Given the description of an element on the screen output the (x, y) to click on. 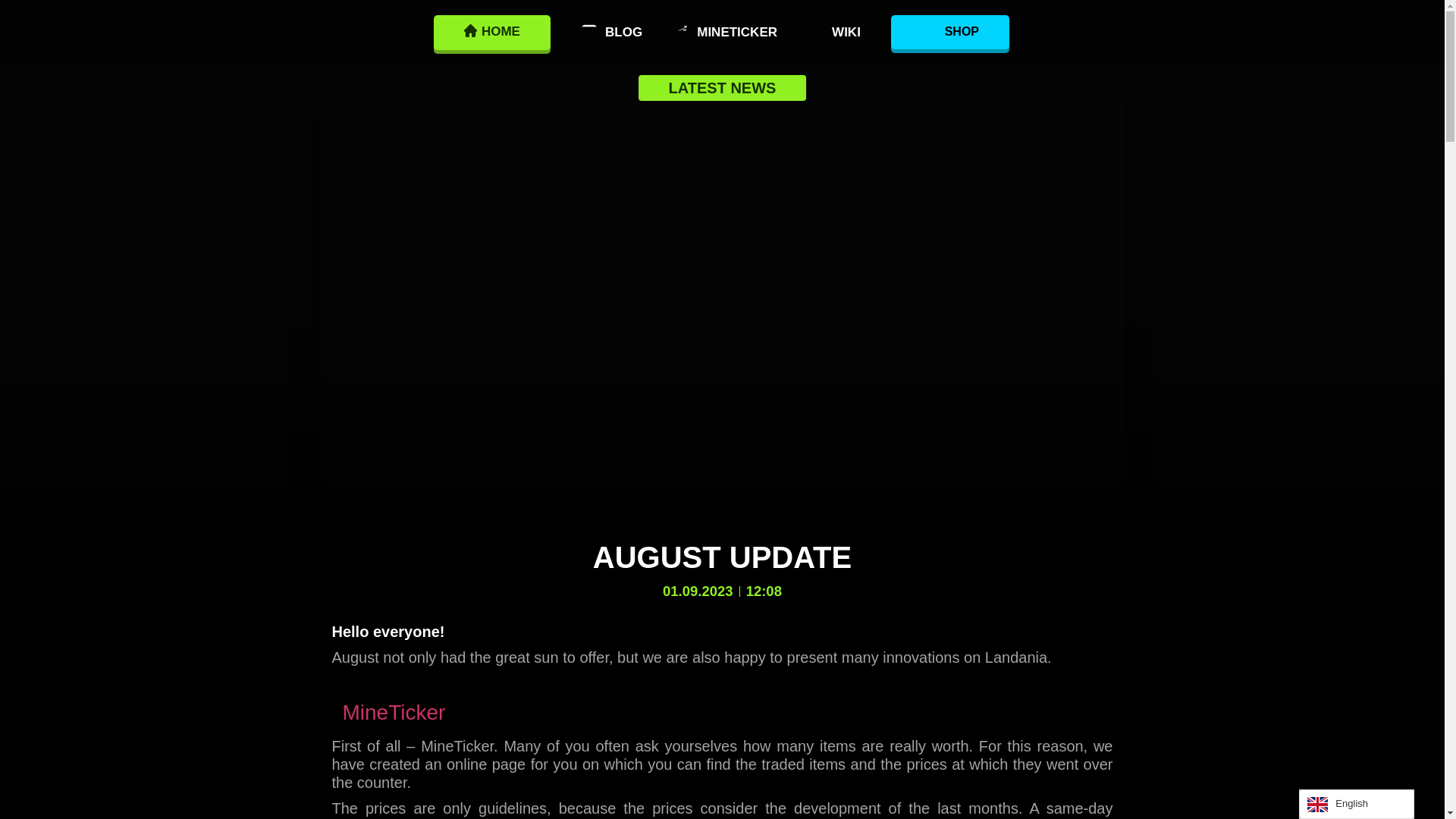
BLOG (604, 32)
WIKI (841, 32)
CREATED BY POTRACE 1.16, WRITTEN BY PETER SELINGER 2001-2019 (470, 30)
SHOP (950, 32)
MINETICKER (725, 32)
MineTicker (394, 712)
